Given the description of an element on the screen output the (x, y) to click on. 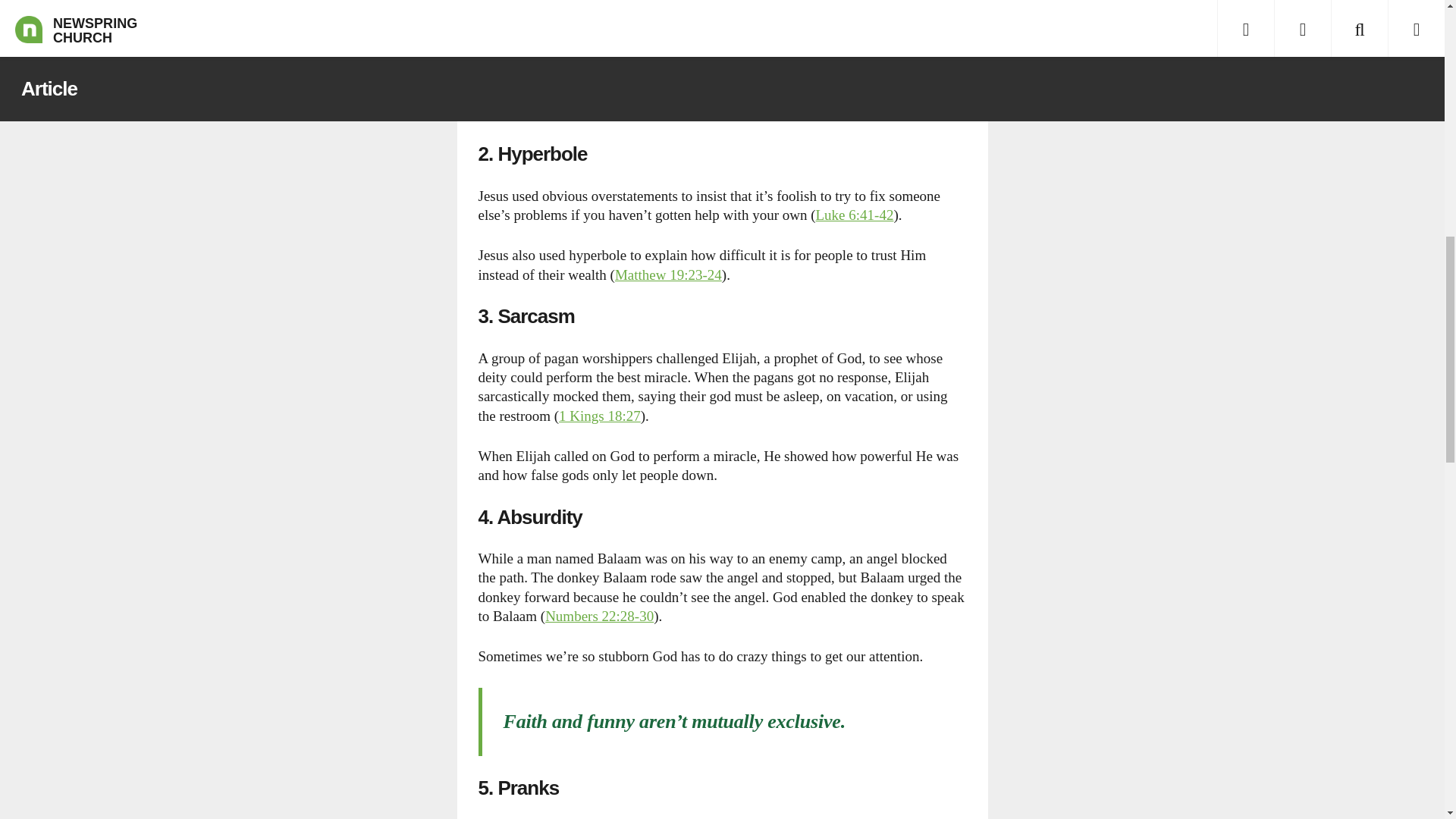
Bible Gateway (598, 616)
Numbers 22:28-30 (598, 616)
Bible Gateway (854, 214)
Bible Gateway (668, 274)
Matthew 19:23-24 (668, 274)
Bible Gateway (599, 415)
Luke 6:41-42 (854, 214)
1 Kings 18:27 (599, 415)
